Given the description of an element on the screen output the (x, y) to click on. 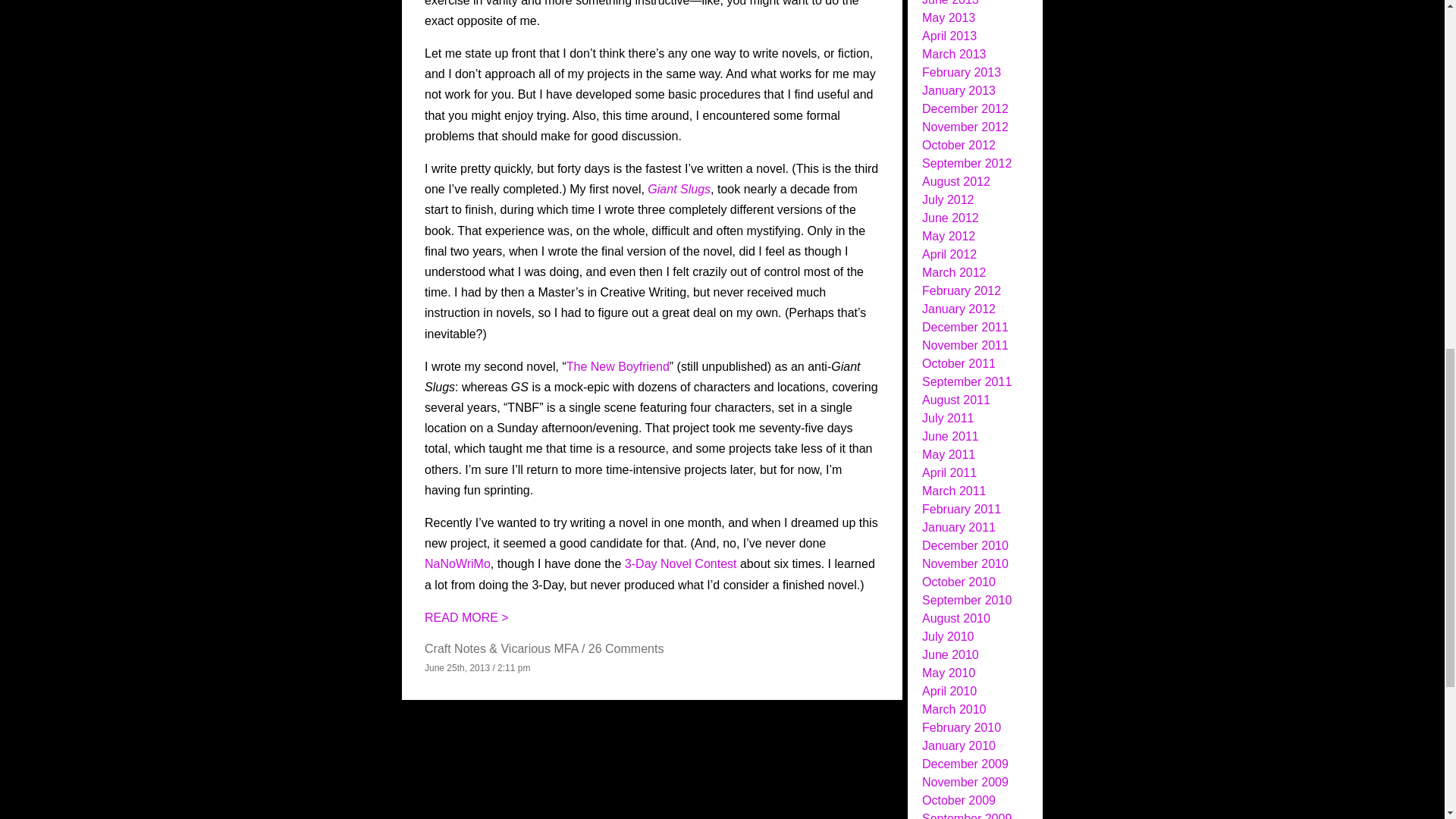
3-Day Novel Contest (680, 563)
Giant Slugs (678, 188)
Craft Notes (455, 648)
Vicarious MFA (539, 648)
NaNoWriMo (457, 563)
The New Boyfriend (617, 366)
26 Comments (625, 648)
